Given the description of an element on the screen output the (x, y) to click on. 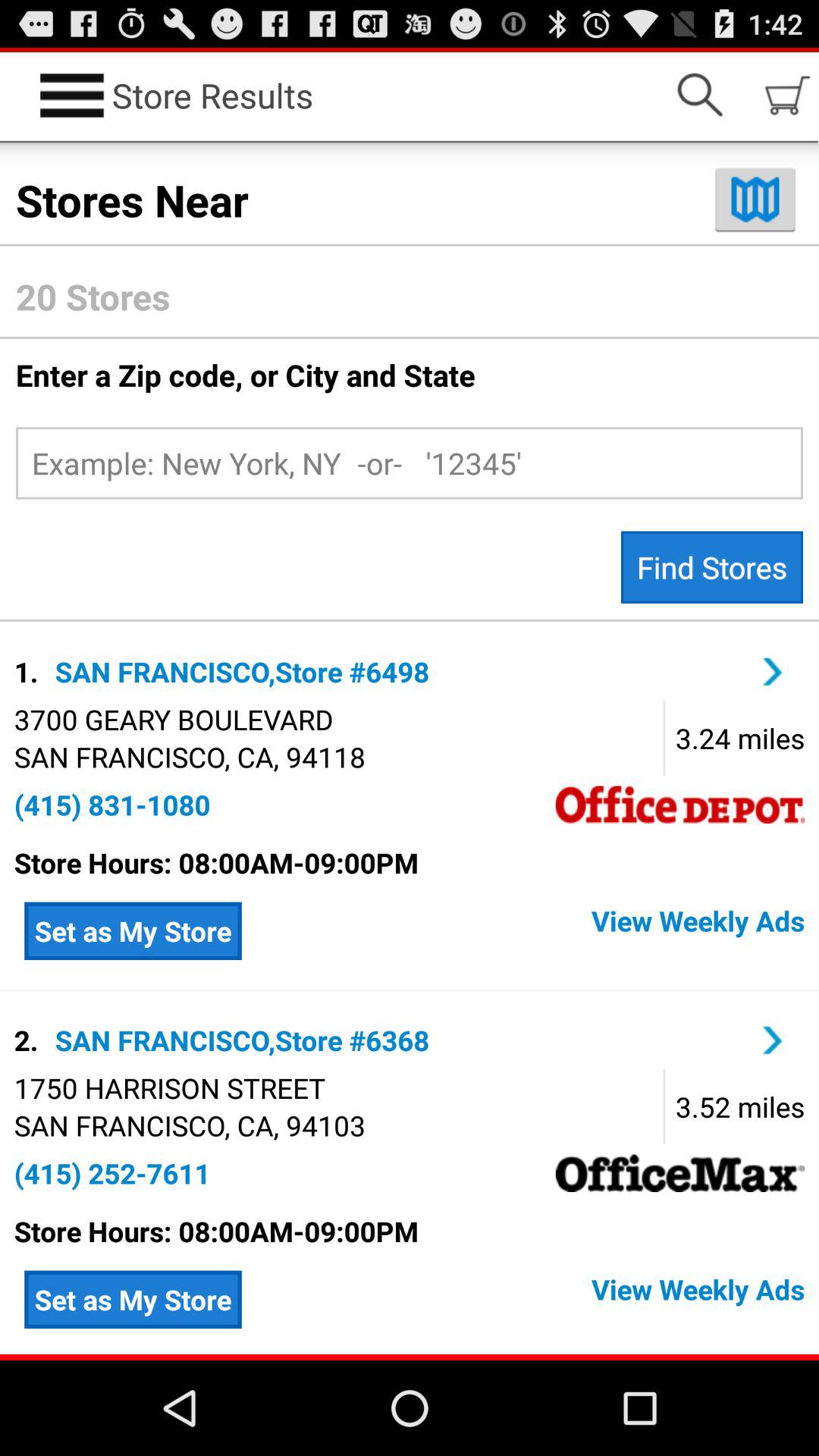
press icon next to the store results icon (699, 95)
